Given the description of an element on the screen output the (x, y) to click on. 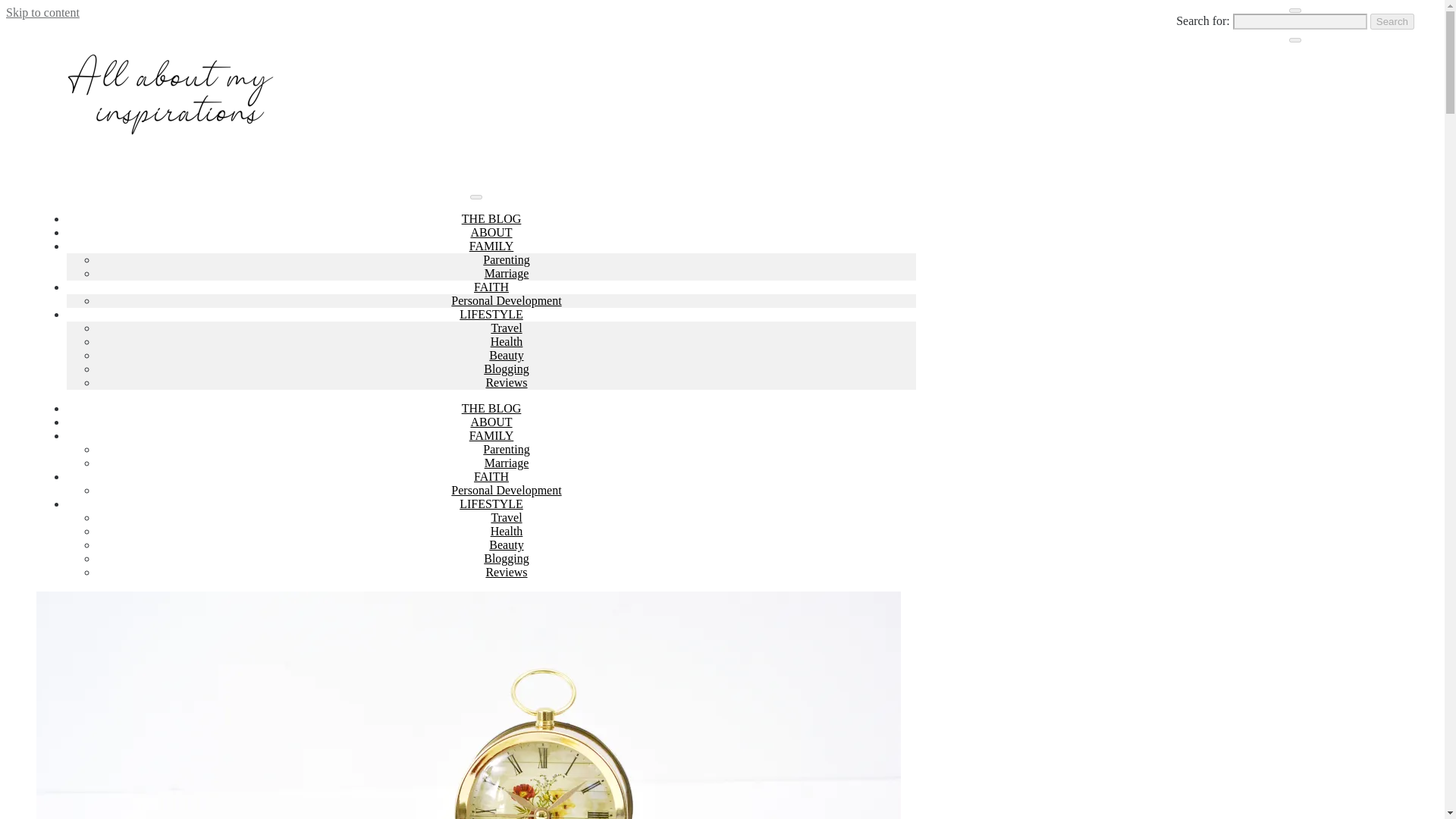
Travel (505, 327)
FAITH (491, 286)
Health (506, 530)
LIFESTYLE (491, 503)
Beauty (505, 544)
Search (1391, 21)
Parenting (506, 259)
THE BLOG (491, 218)
Blogging (506, 368)
Personal Development (505, 300)
